Given the description of an element on the screen output the (x, y) to click on. 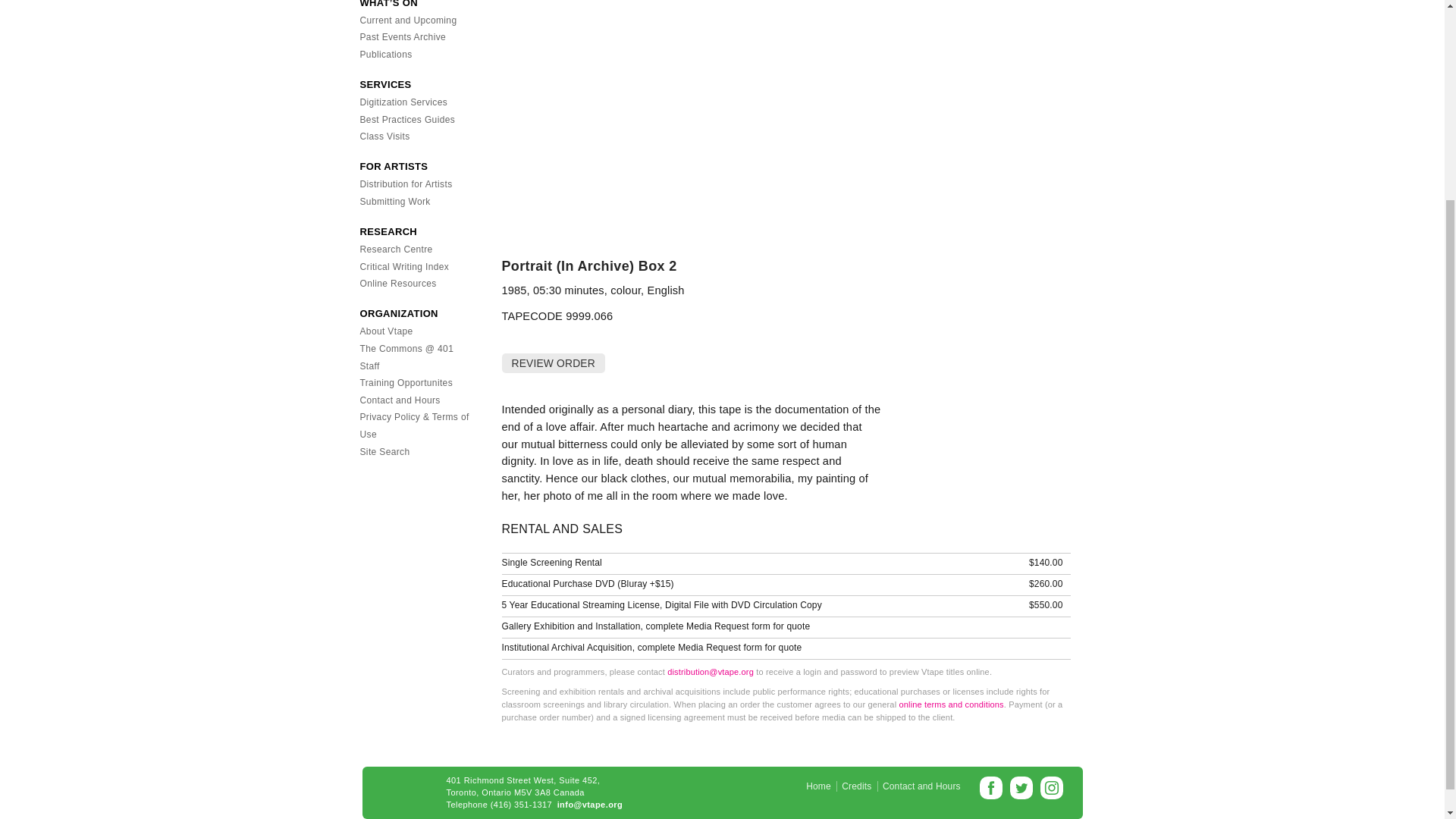
REVIEW ORDER (553, 362)
online terms and conditions (950, 704)
Critical Writing Index Search (403, 266)
Current and Upcoming (408, 20)
View requested items (552, 363)
